Given the description of an element on the screen output the (x, y) to click on. 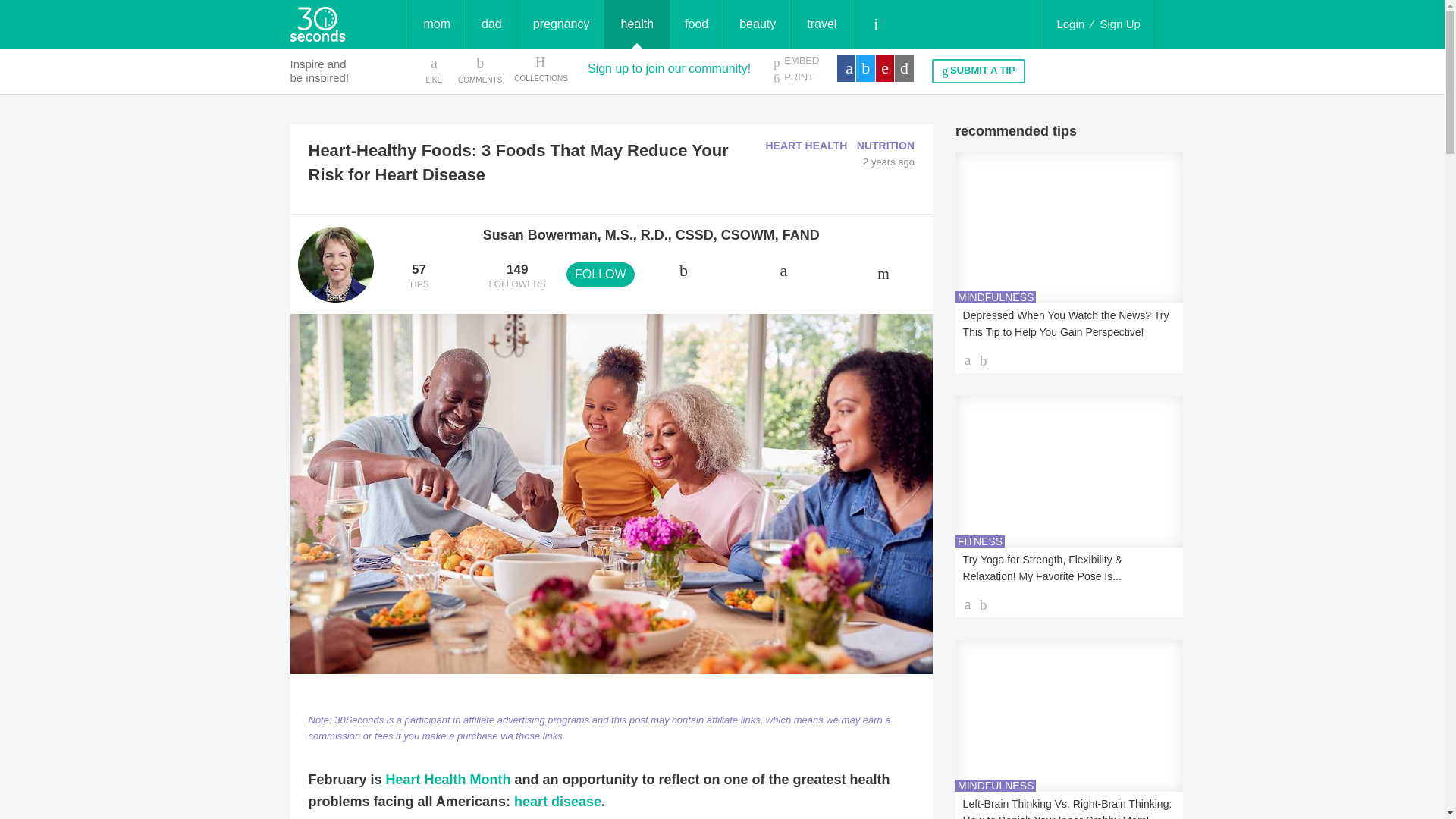
Sign Up (1120, 23)
HEART HEALTH (806, 145)
pregnancy (561, 24)
health (636, 24)
NUTRITION (885, 145)
FOLLOW (600, 274)
COMMENTS (480, 68)
Sign up to join our community! (669, 68)
EMBED (795, 61)
PRINT (795, 77)
